Given the description of an element on the screen output the (x, y) to click on. 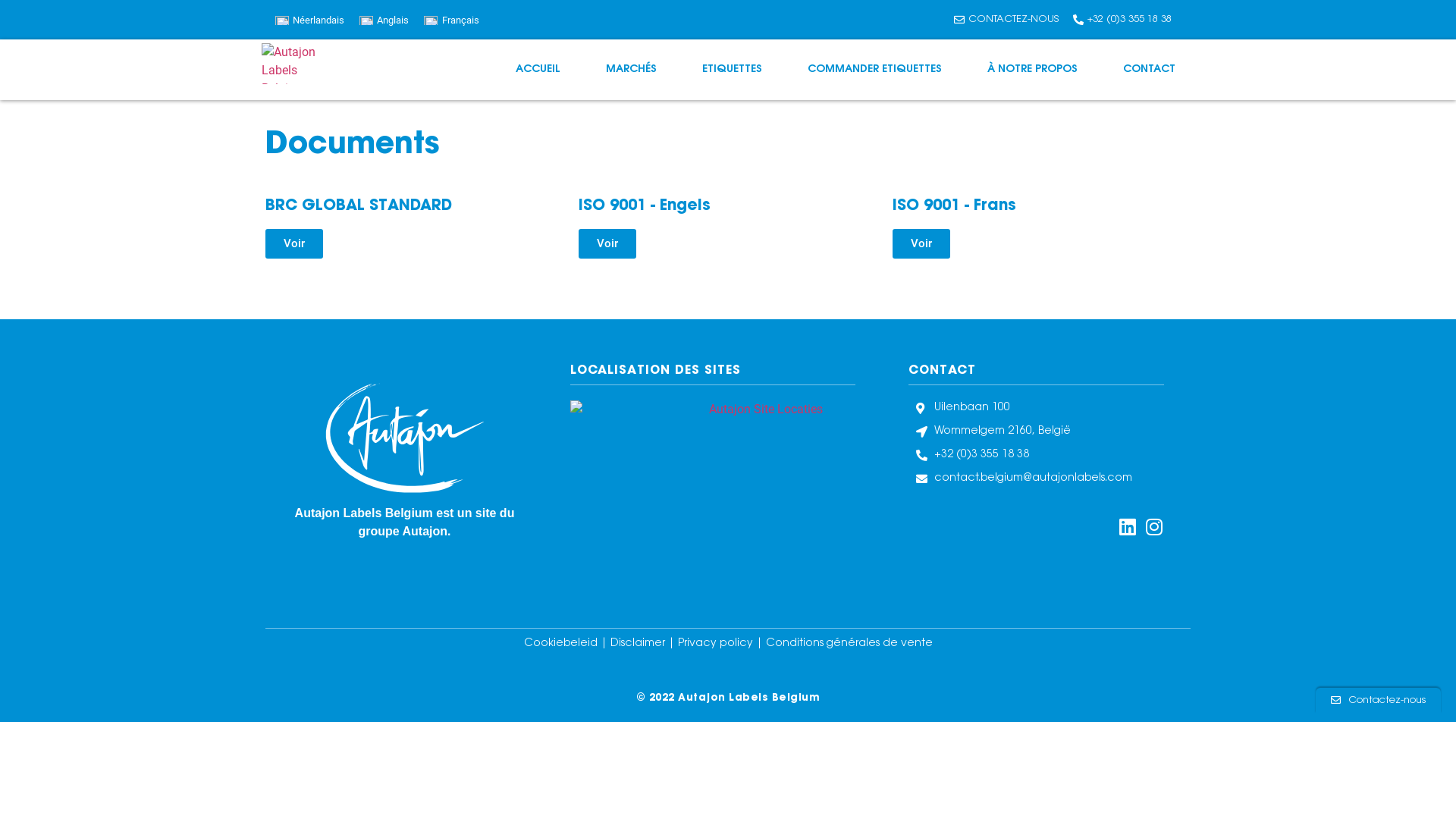
contact.belgium@autajonlabels.com Element type: text (1040, 478)
Disclaimer Element type: text (638, 643)
Privacy policy Element type: text (715, 643)
ACCUEIL Element type: text (537, 69)
Voir Element type: text (921, 243)
Contactez-nous Element type: text (1377, 700)
Voir Element type: text (607, 243)
CONTACT Element type: text (1149, 69)
+32 (0)3 355 18 38 Element type: text (1040, 455)
Cookiebeleid  Element type: text (561, 643)
CONTACTEZ-NOUS Element type: text (1004, 19)
Anglais Element type: text (383, 19)
Voir Element type: text (294, 243)
+32 (0)3 355 18 38 Element type: text (1121, 19)
COMMANDER ETIQUETTES Element type: text (874, 69)
ETIQUETTES Element type: text (731, 69)
